Given the description of an element on the screen output the (x, y) to click on. 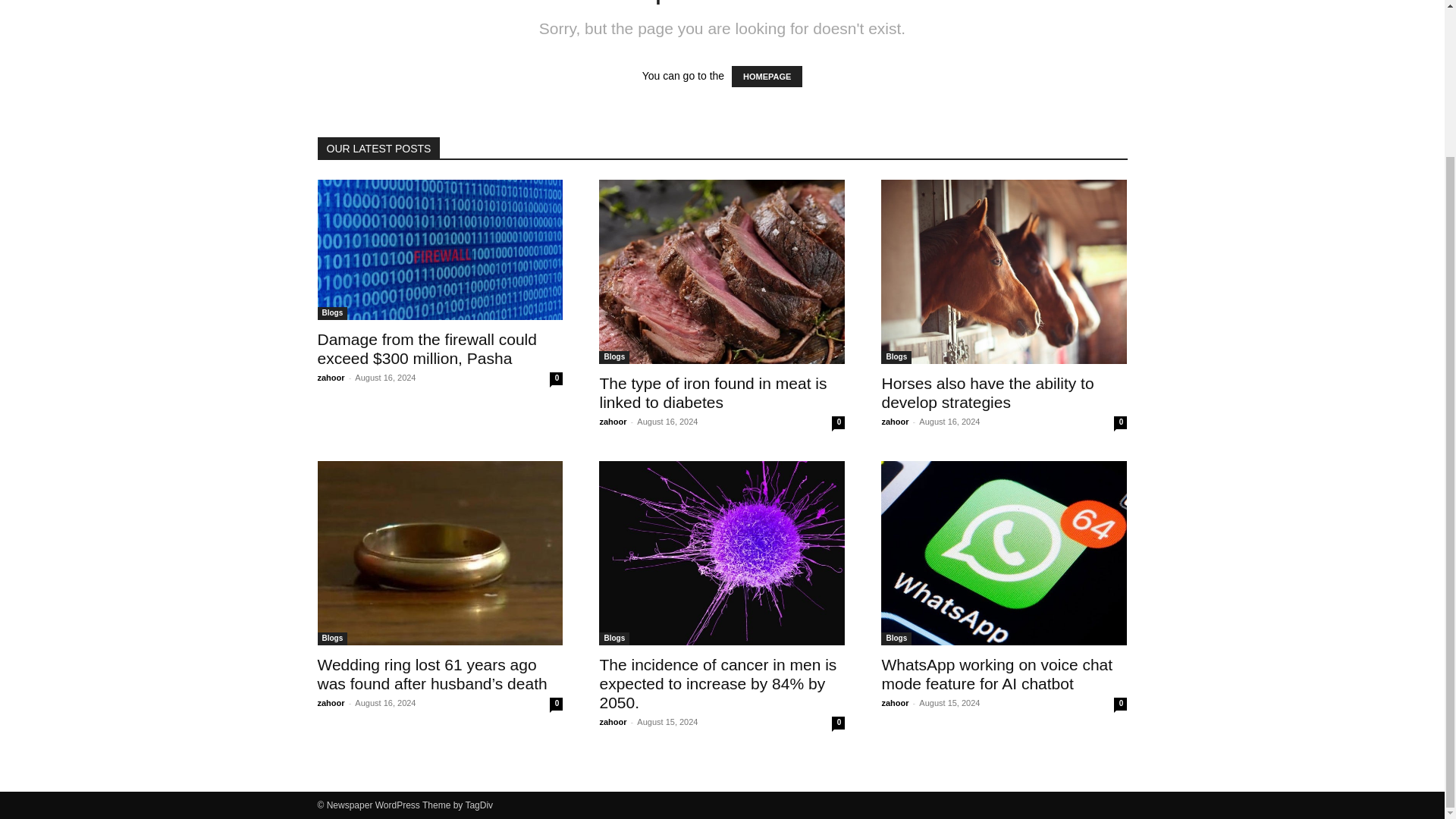
0 (556, 703)
Horses also have the ability to develop strategies (986, 392)
Blogs (895, 357)
0 (1119, 703)
Blogs (895, 638)
The type of iron found in meat is linked to diabetes (721, 271)
WhatsApp working on voice chat mode feature for AI chatbot (1003, 553)
HOMEPAGE (767, 76)
WhatsApp working on voice chat mode feature for AI chatbot (996, 674)
0 (837, 722)
